Given the description of an element on the screen output the (x, y) to click on. 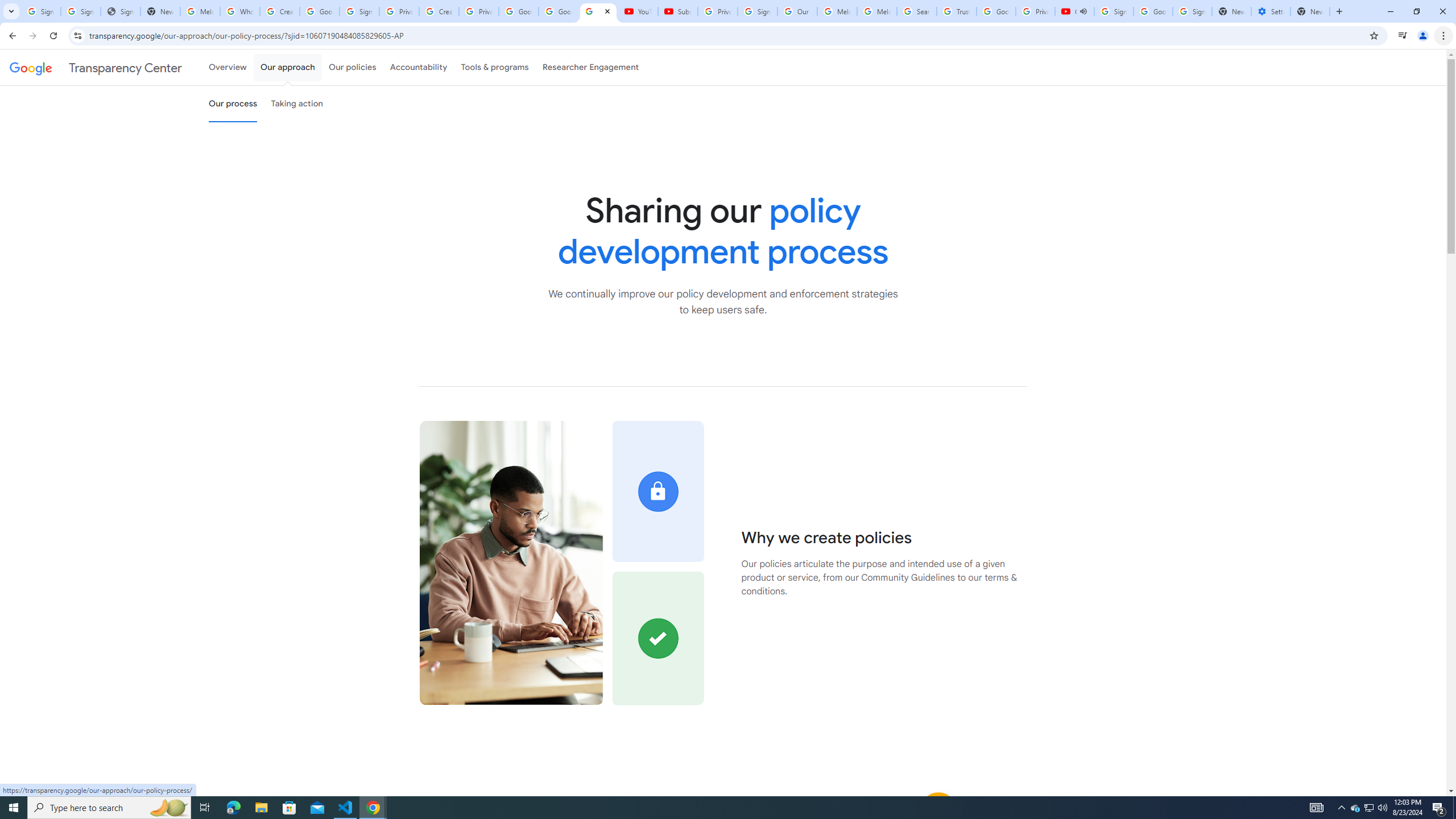
Search our Doodle Library Collection - Google Doodles (916, 11)
Researcher Engagement (590, 67)
Create your Google Account (438, 11)
New Tab (1310, 11)
Sign in - Google Accounts (757, 11)
Create your Google Account (279, 11)
Trusted Information and Content - Google Safety Center (956, 11)
